Given the description of an element on the screen output the (x, y) to click on. 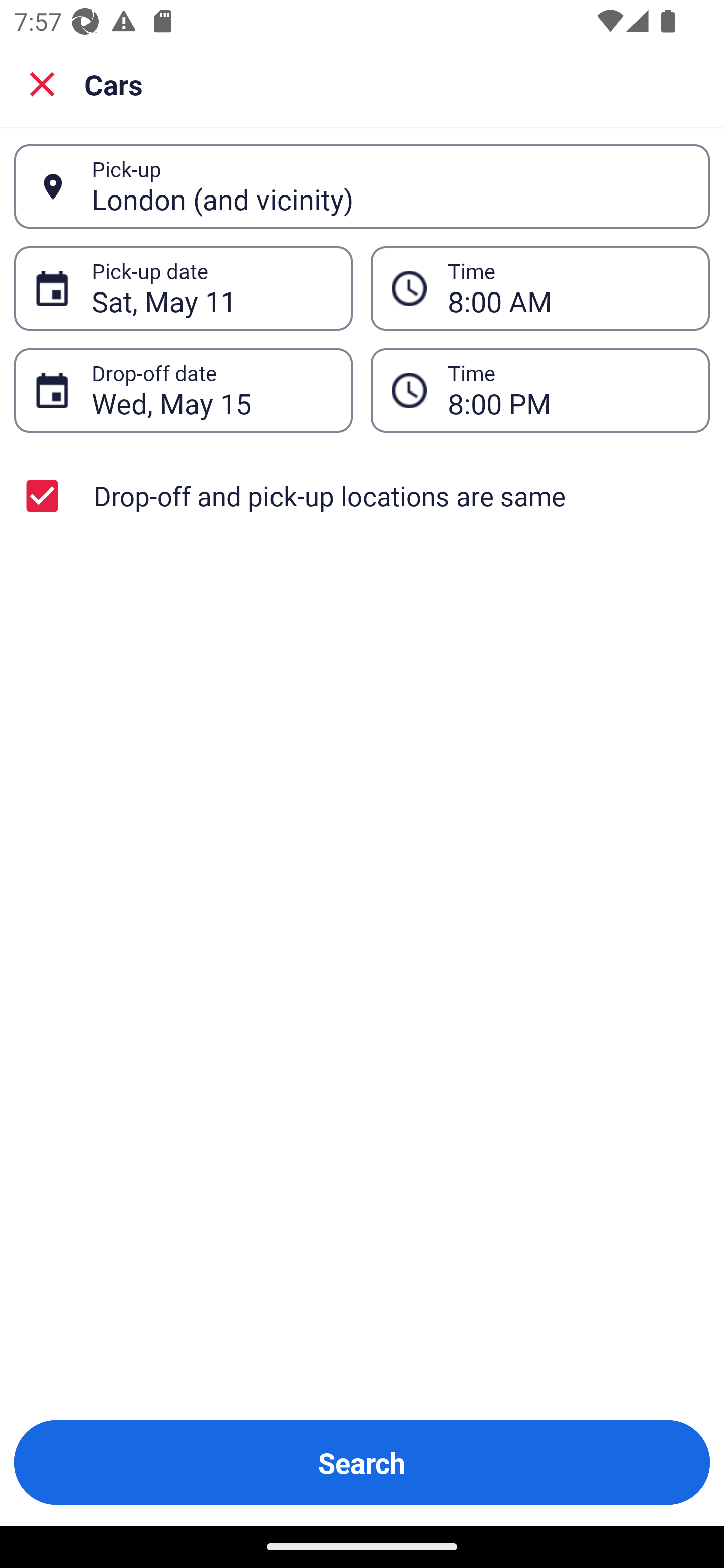
Close search screen (41, 83)
London (and vicinity) Pick-up (361, 186)
London (and vicinity) (389, 186)
Sat, May 11 Pick-up date (183, 288)
8:00 AM (540, 288)
Sat, May 11 (211, 288)
8:00 AM (568, 288)
Wed, May 15 Drop-off date (183, 390)
8:00 PM (540, 390)
Wed, May 15 (211, 390)
8:00 PM (568, 390)
Drop-off and pick-up locations are same (361, 495)
Search Button Search (361, 1462)
